Given the description of an element on the screen output the (x, y) to click on. 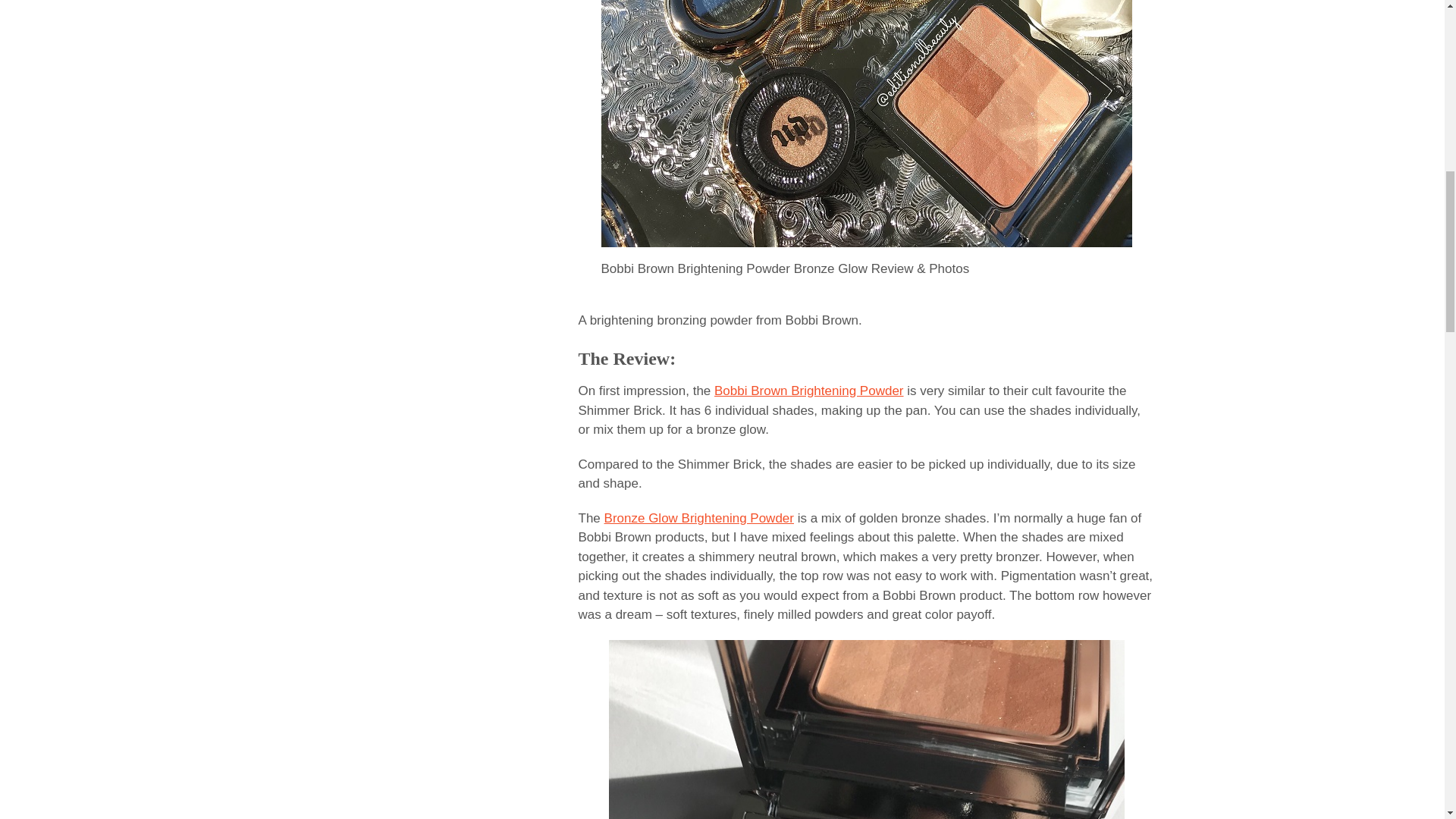
Bronze Glow Brightening Powder (698, 518)
Bobbi Brown Brightening Powder (808, 391)
